Given the description of an element on the screen output the (x, y) to click on. 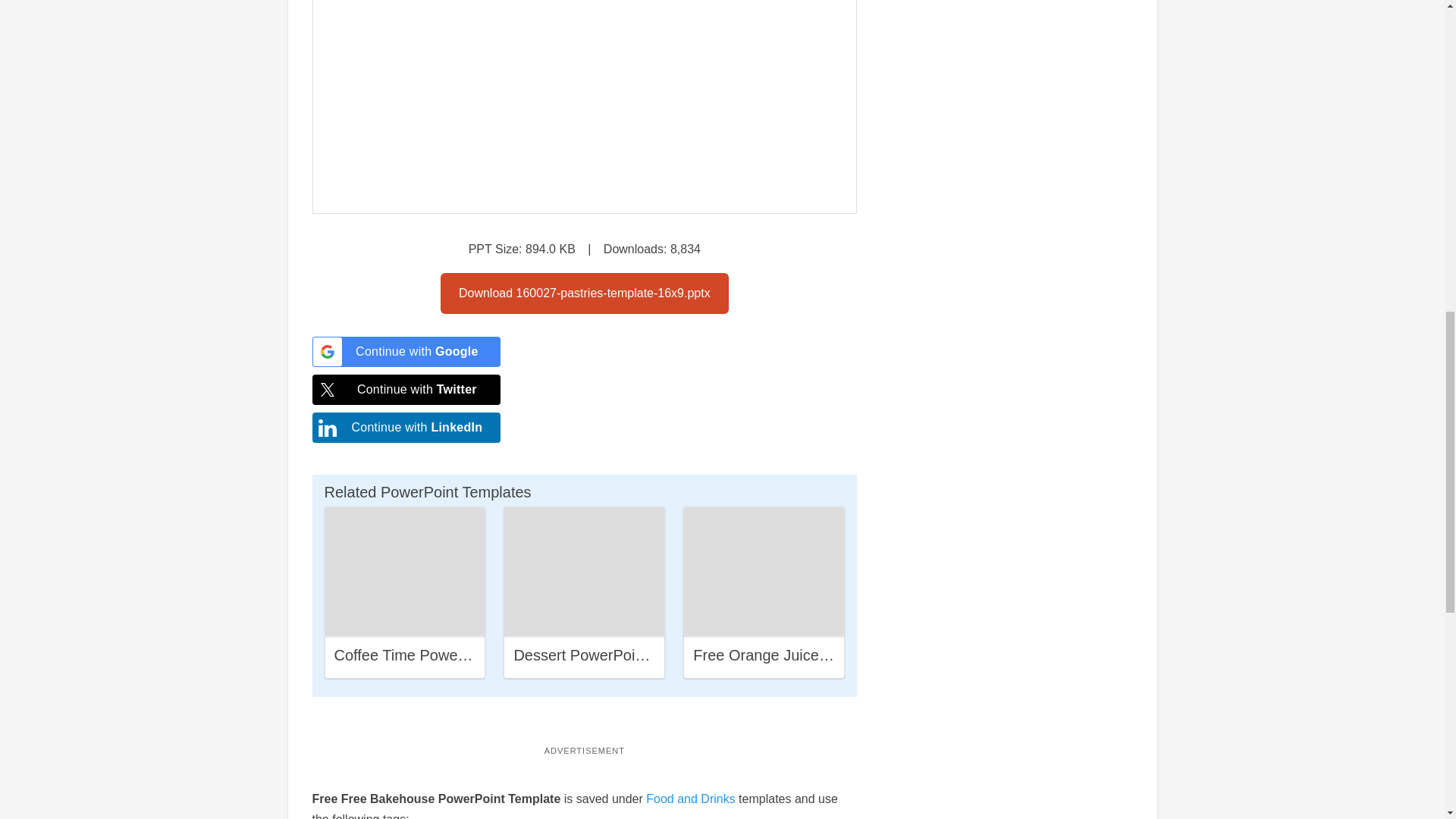
Dessert PowerPoint Template (613, 655)
Food and Drinks (690, 798)
Free Orange Juice PowerPoint Template (829, 655)
Continue with Twitter (406, 389)
Coffee Time PowerPoint Template (447, 655)
Download 160027-pastries-template-16x9.pptx (585, 292)
Orange PowerPoint Template (764, 570)
Free Orange Juice PowerPoint Template (763, 571)
Coffee Time PowerPoint Template (405, 571)
Continue with LinkedIn (406, 427)
